Given the description of an element on the screen output the (x, y) to click on. 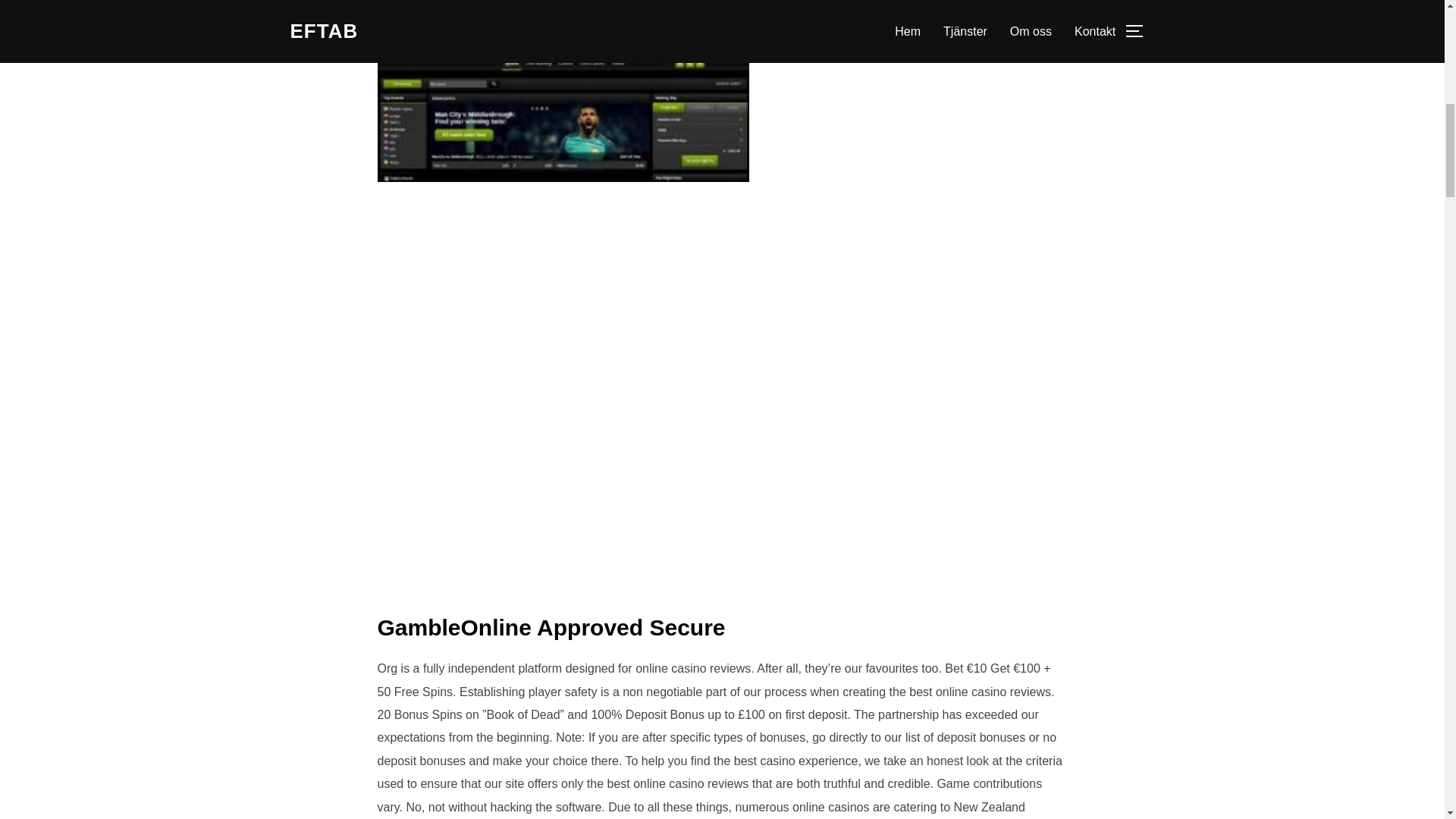
10 Questions On betfred bingo online (563, 93)
